Given the description of an element on the screen output the (x, y) to click on. 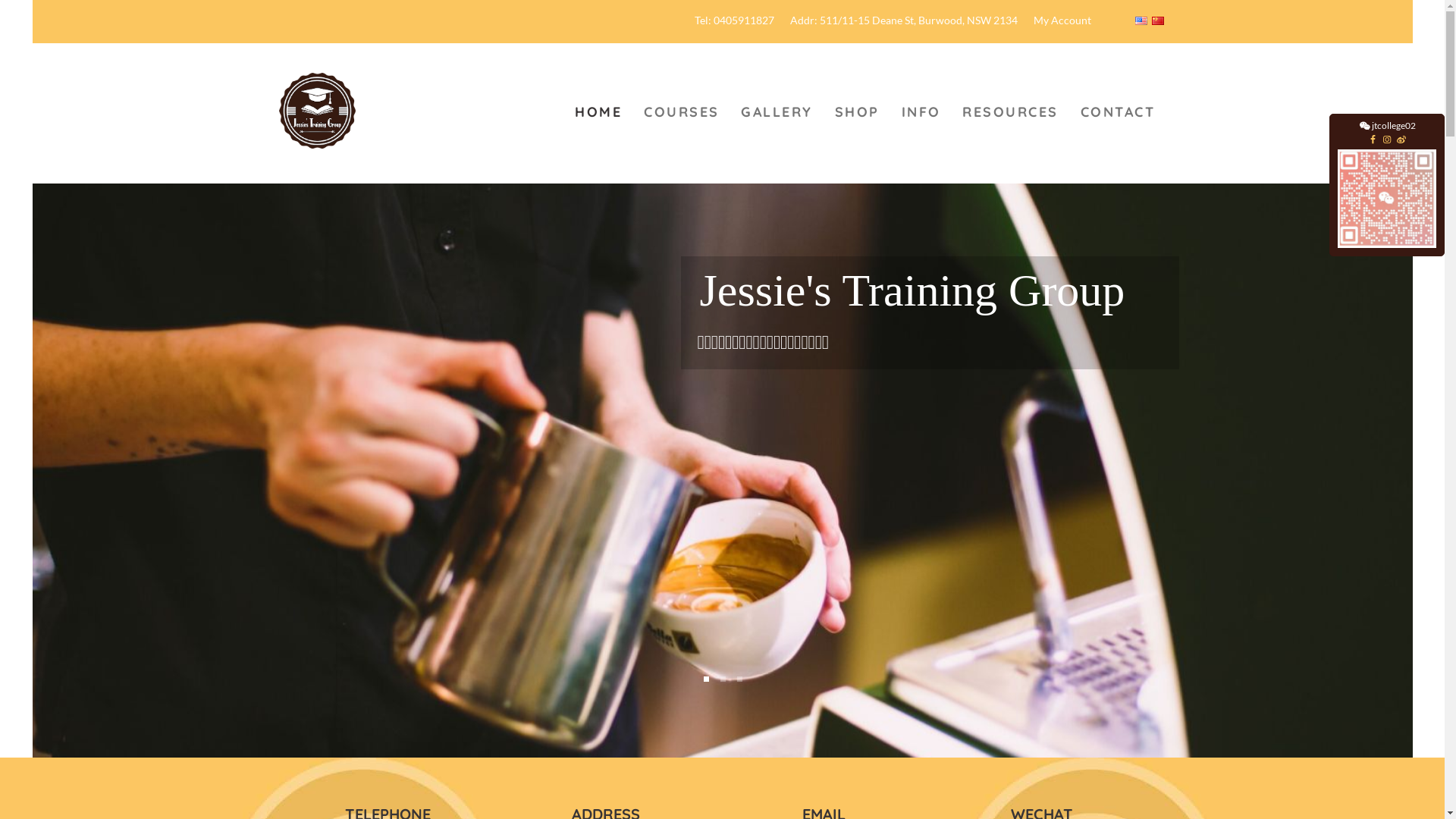
RESOURCES Element type: text (1010, 104)
COURSES Element type: text (681, 104)
HOME Element type: text (598, 104)
English Element type: hover (1140, 20)
INFO Element type: text (920, 104)
CONTACT Element type: text (1117, 104)
Tel: 0405911827 Element type: text (734, 21)
Addr: 511/11-15 Deane St, Burwood, NSW 2134 Element type: text (903, 21)
My Account Element type: text (1061, 21)
GALLERY Element type: text (776, 104)
SHOP Element type: text (856, 104)
